Given the description of an element on the screen output the (x, y) to click on. 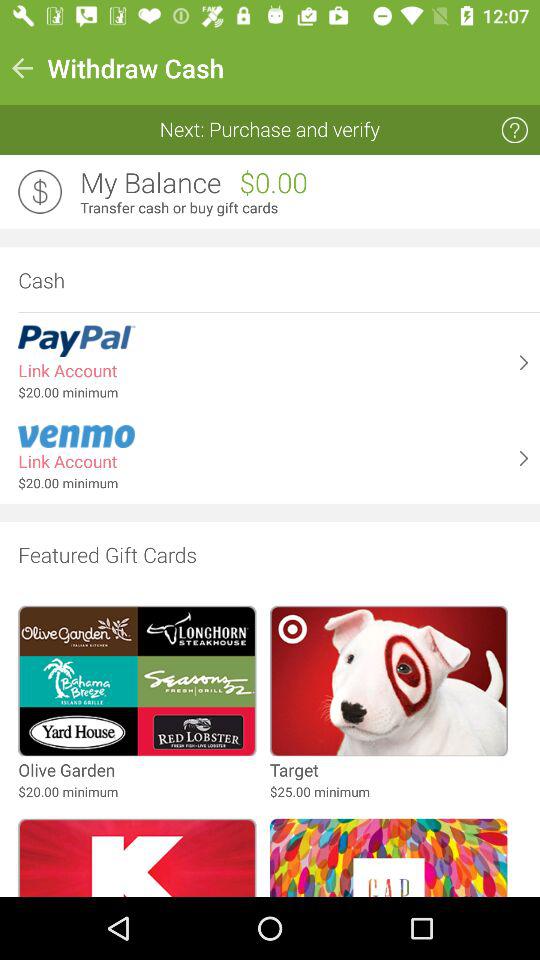
select target item (294, 770)
